Given the description of an element on the screen output the (x, y) to click on. 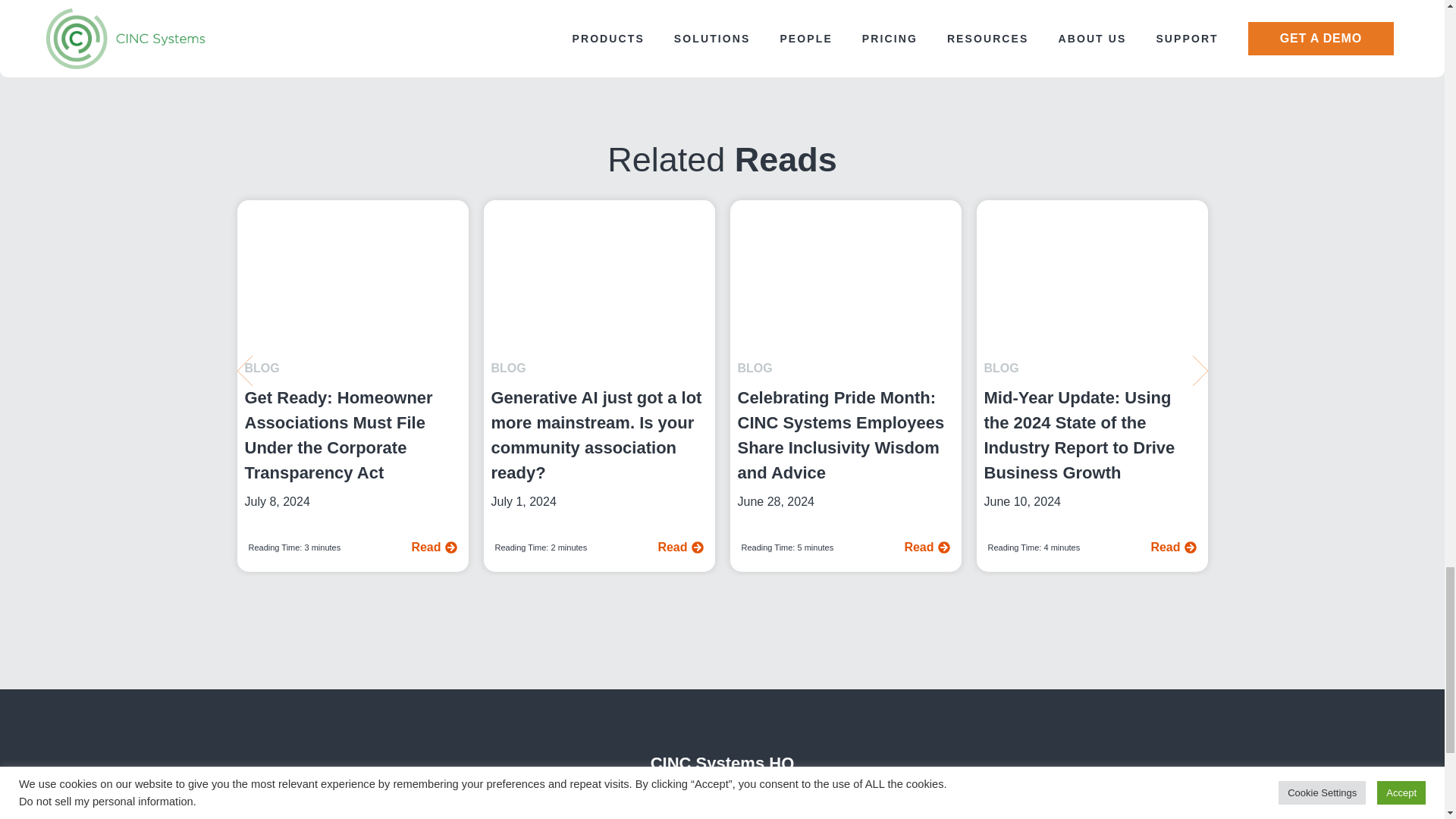
Law, Legislation, Document. (352, 280)
